Given the description of an element on the screen output the (x, y) to click on. 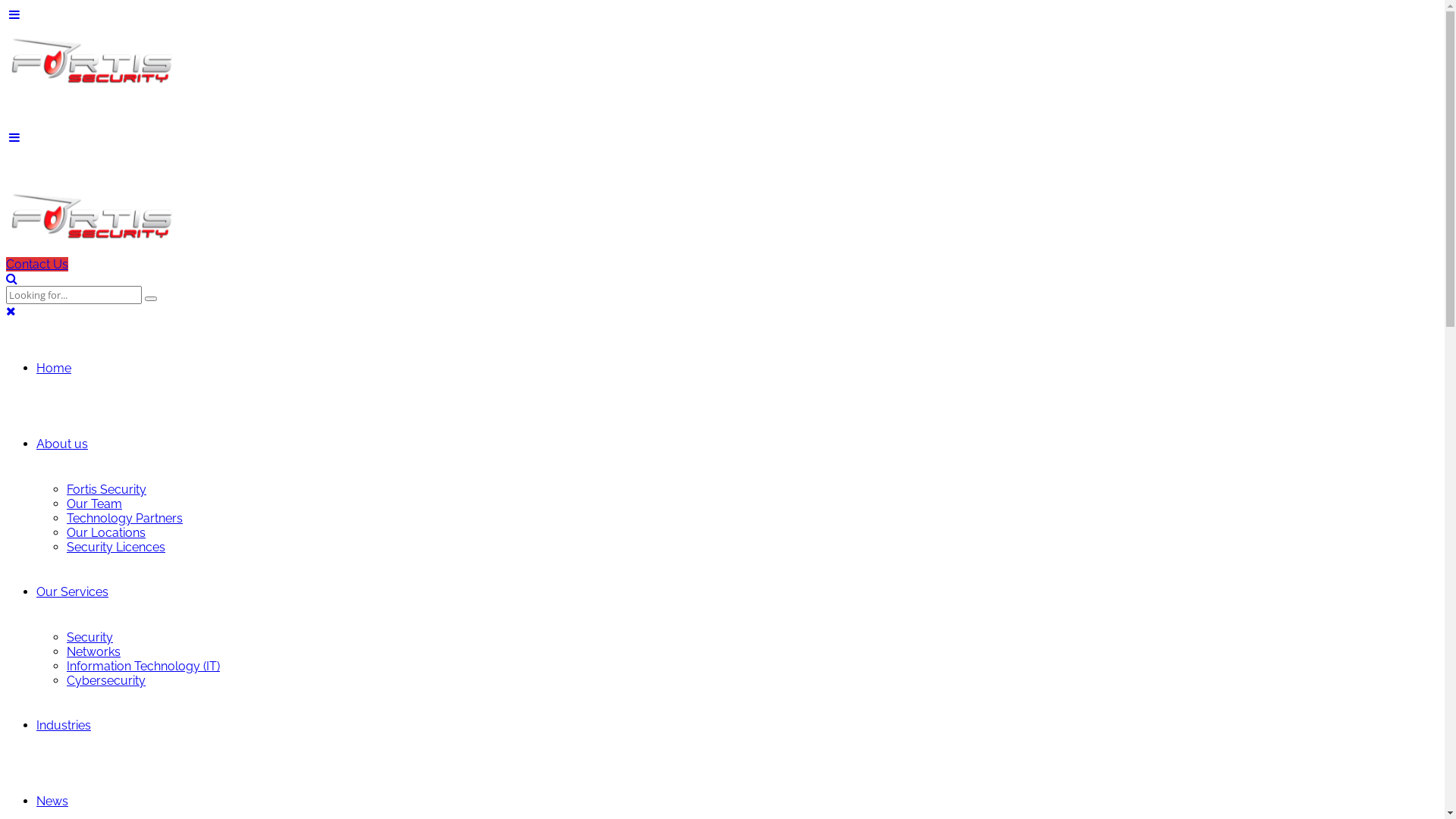
Networks Element type: text (93, 651)
Contact Us Element type: text (37, 264)
Our Services Element type: text (72, 591)
Information Technology (IT) Element type: text (142, 665)
Home Element type: text (53, 367)
Technology Partners Element type: text (124, 518)
Security Licences Element type: text (115, 546)
Our Locations Element type: text (105, 532)
Fortis Security Element type: text (106, 489)
Security Element type: text (89, 637)
News Element type: text (52, 800)
Industries Element type: text (63, 725)
Cybersecurity Element type: text (105, 680)
Our Team Element type: text (94, 503)
About us Element type: text (61, 443)
